Given the description of an element on the screen output the (x, y) to click on. 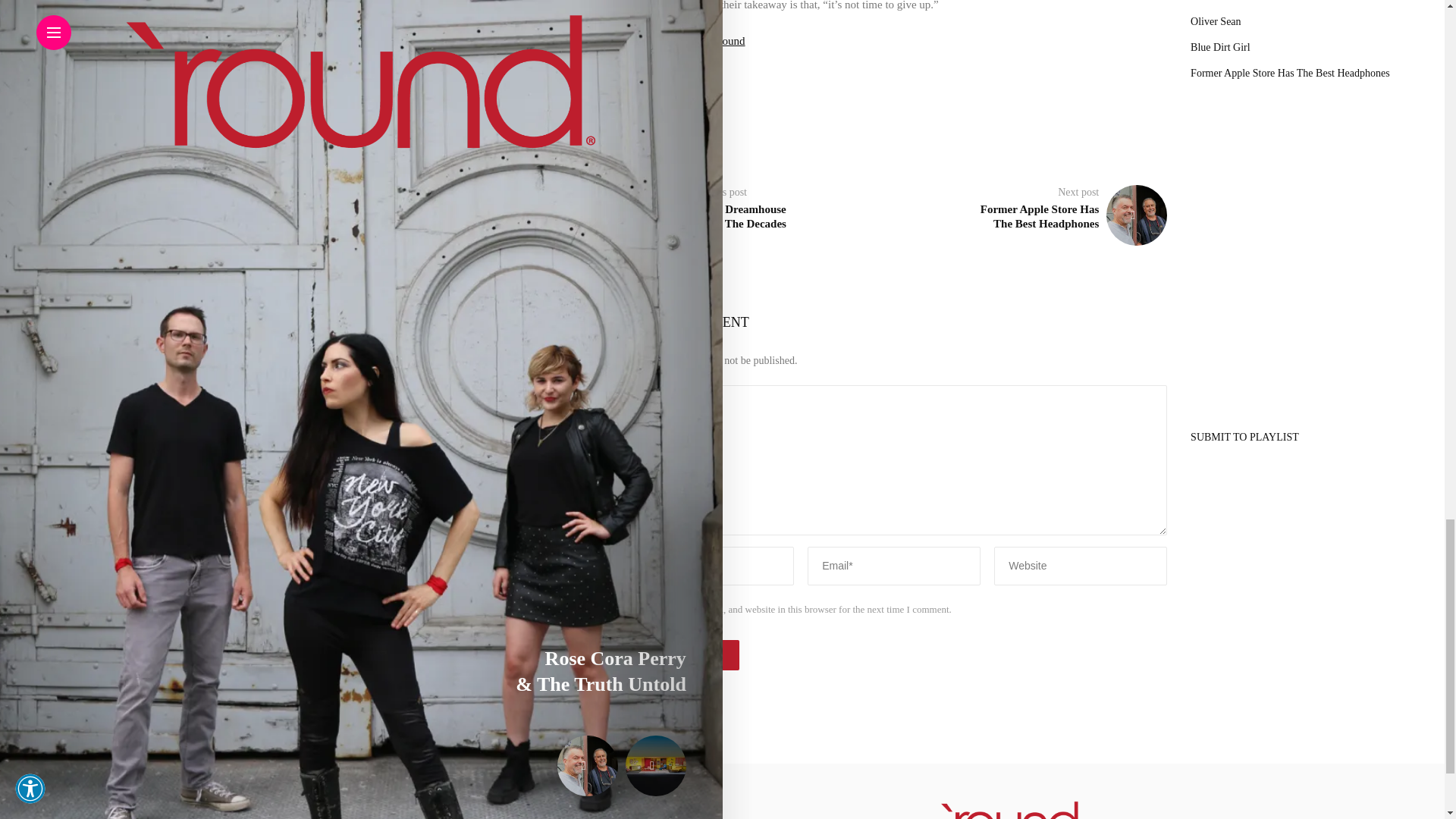
Post Comment (680, 654)
Post Comment (680, 654)
yes (627, 609)
ROCK (692, 130)
MUSIC (643, 130)
